Given the description of an element on the screen output the (x, y) to click on. 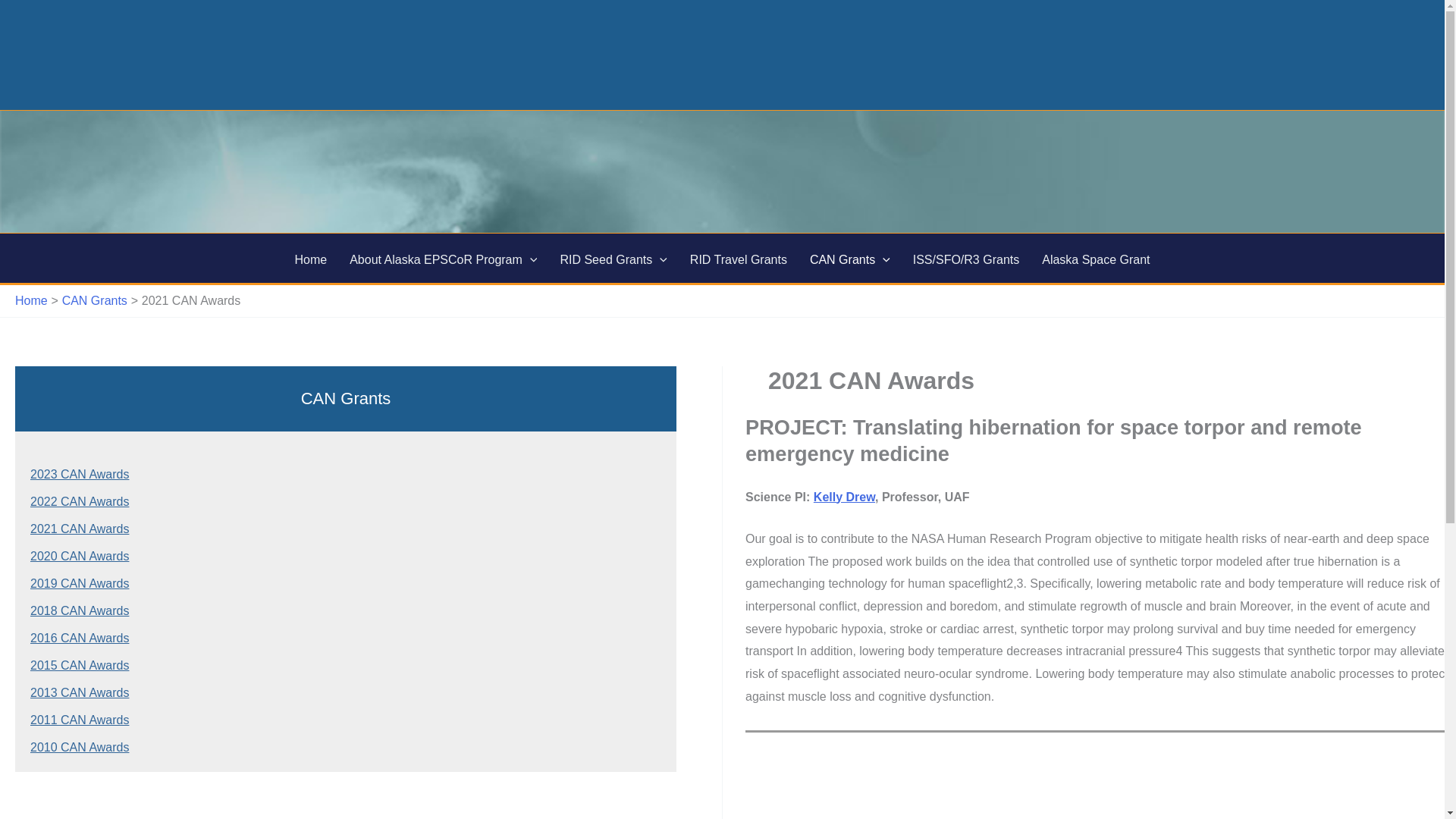
CAN Grants (849, 257)
Alaska Space Grant (1095, 257)
About Alaska EPSCoR Program (442, 257)
RID Travel Grants (737, 257)
RID Seed Grants (613, 257)
Home (309, 257)
